Given the description of an element on the screen output the (x, y) to click on. 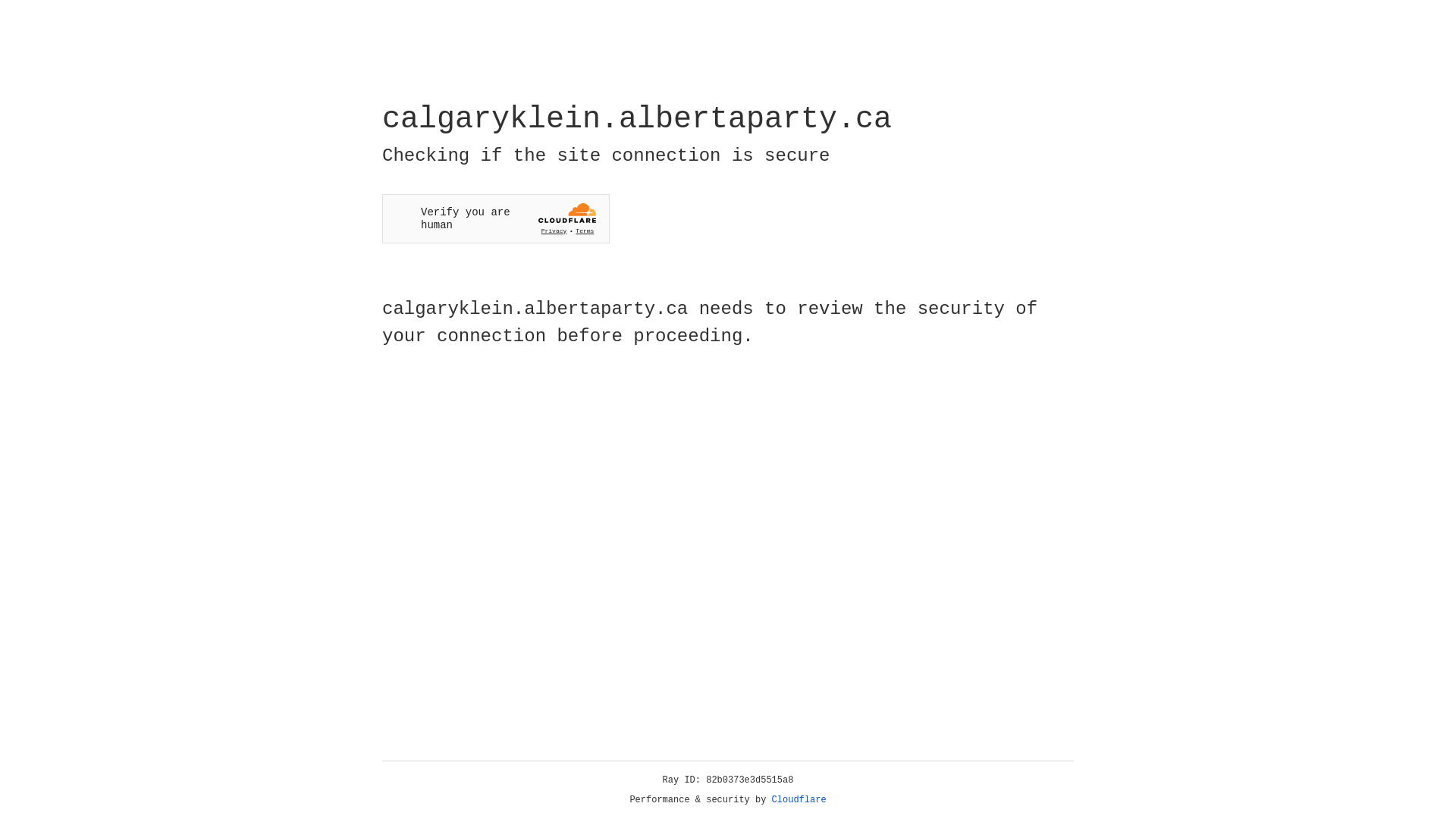
Widget containing a Cloudflare security challenge Element type: hover (495, 218)
Cloudflare Element type: text (798, 799)
